Given the description of an element on the screen output the (x, y) to click on. 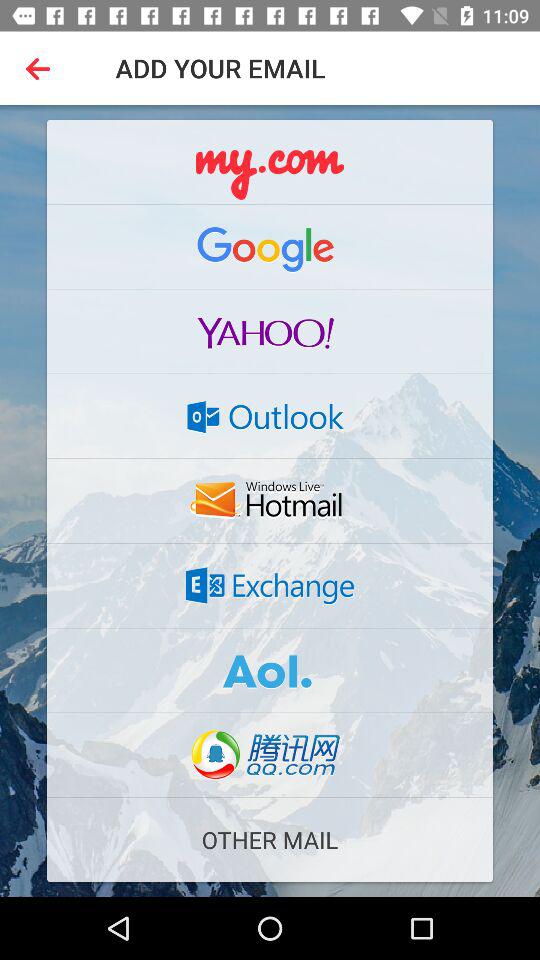
flip to the other mail icon (269, 839)
